Given the description of an element on the screen output the (x, y) to click on. 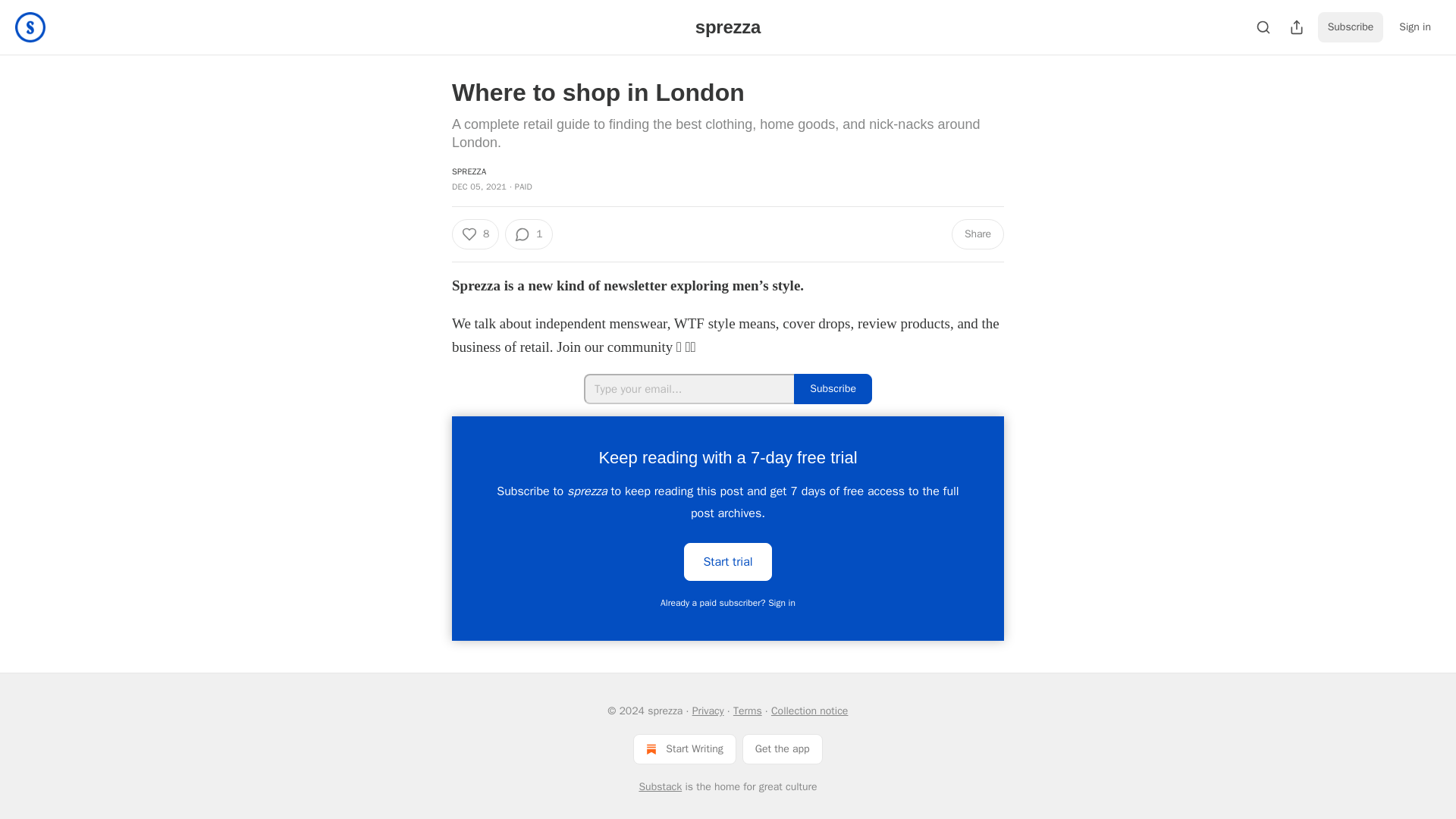
sprezza (727, 26)
Sign in (1415, 27)
Collection notice (809, 710)
SPREZZA (468, 171)
Privacy (708, 710)
Start trial (727, 561)
Terms (747, 710)
Get the app (782, 748)
8 (475, 234)
Subscribe (1350, 27)
